Given the description of an element on the screen output the (x, y) to click on. 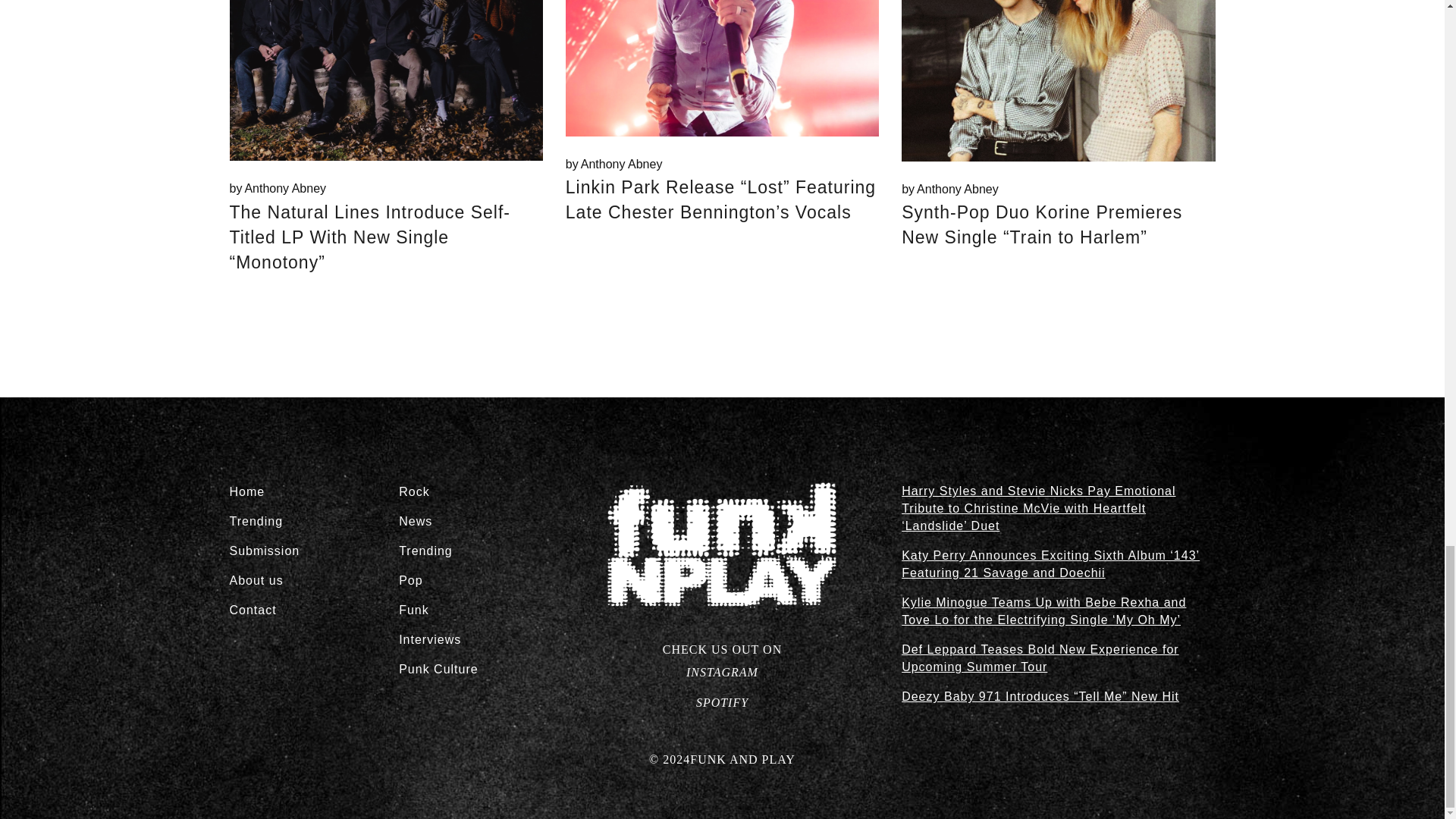
Home (614, 164)
